Given the description of an element on the screen output the (x, y) to click on. 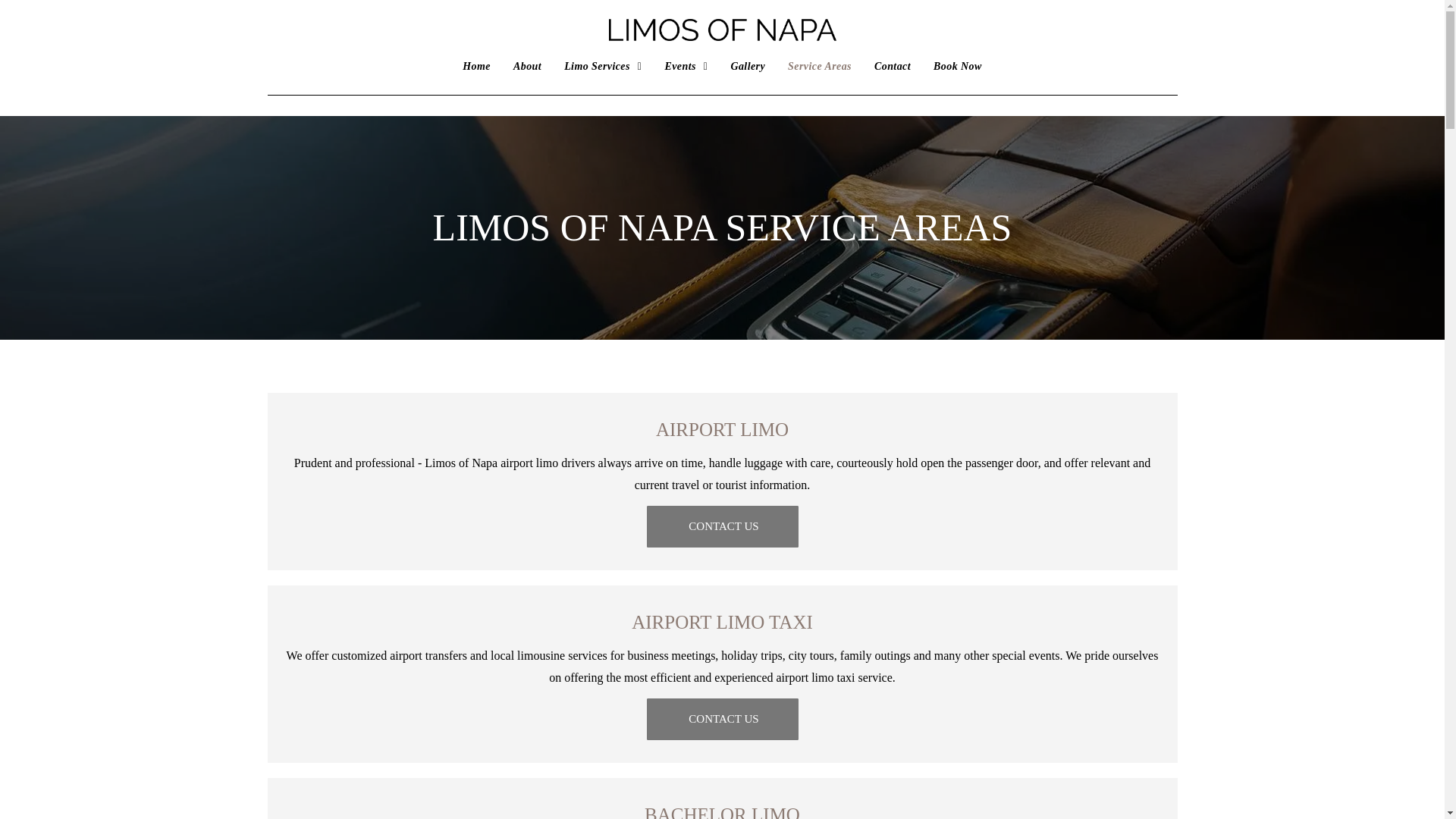
Events (685, 66)
Contact (892, 66)
Service Areas (819, 66)
CONTACT US (721, 719)
Limo Services (602, 66)
CONTACT US (721, 526)
Home (476, 66)
About (527, 66)
Gallery (747, 66)
Book Now (956, 66)
